Given the description of an element on the screen output the (x, y) to click on. 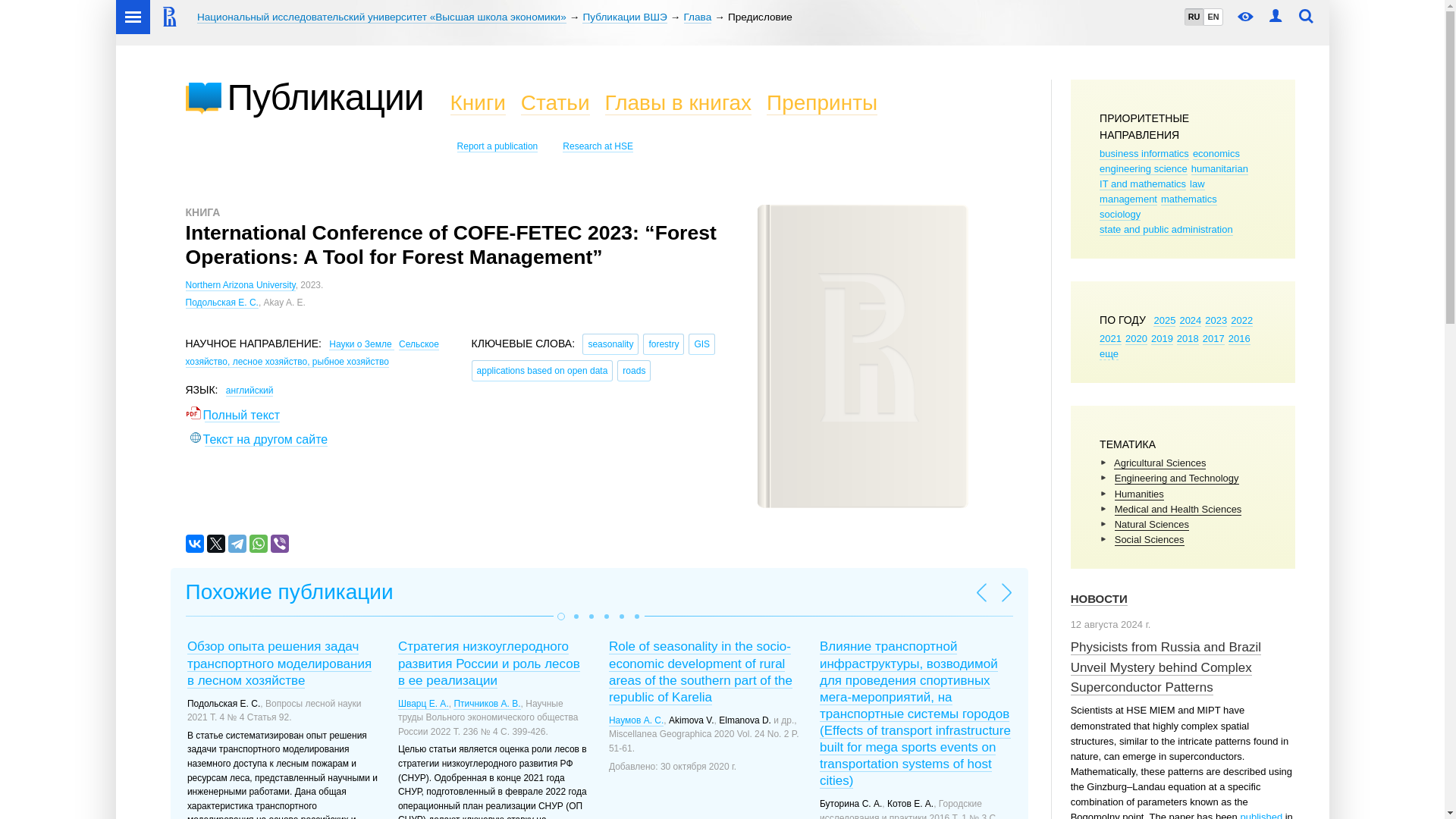
2016 (1239, 338)
management (1128, 199)
2017 (1213, 338)
sociology (1119, 214)
2018 (1187, 338)
2021 (1110, 338)
business informatics (1144, 152)
2024 (1190, 320)
state and public administration (1166, 229)
EN (1212, 17)
